Given the description of an element on the screen output the (x, y) to click on. 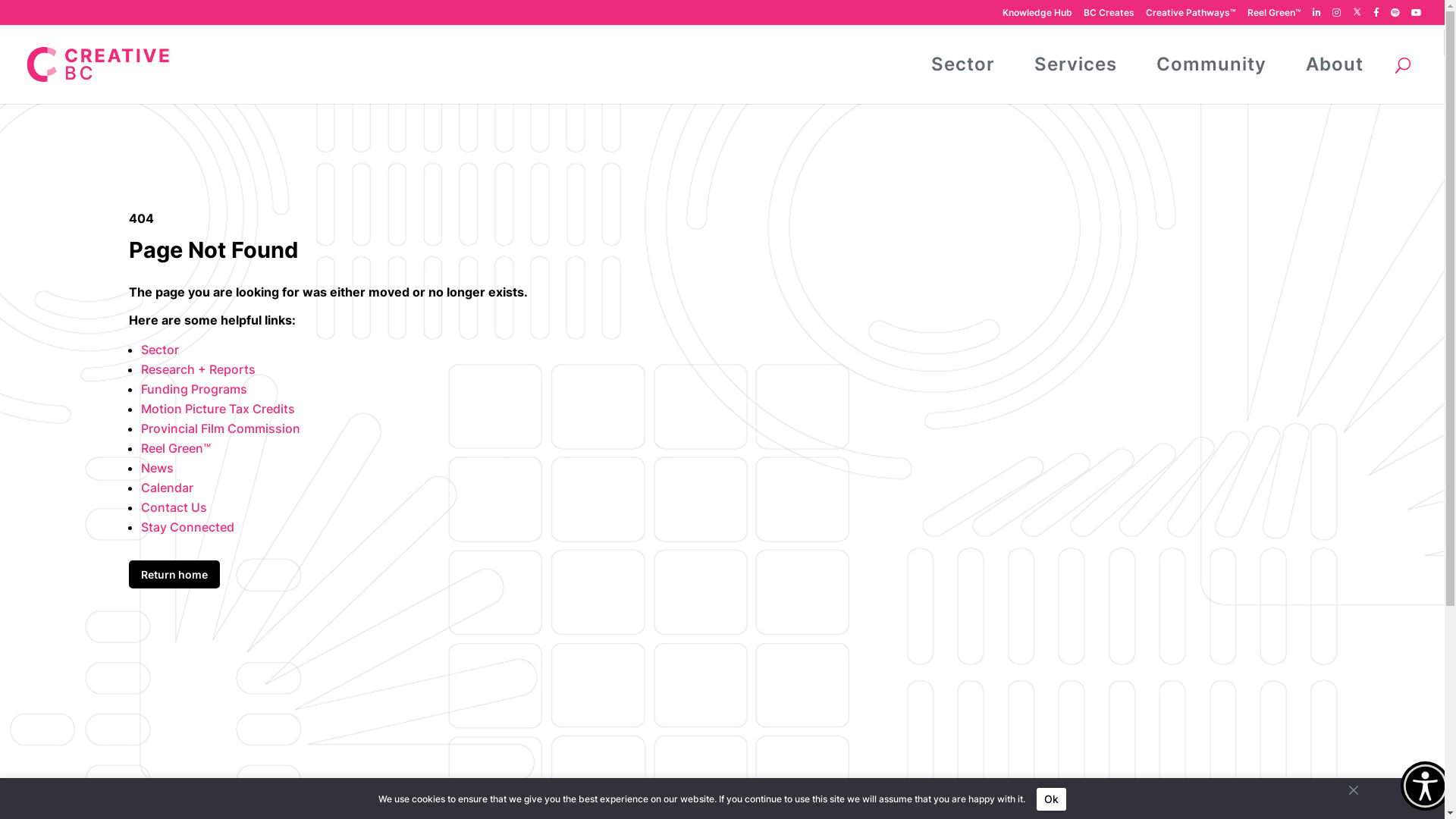
BC Creates Element type: text (1108, 15)
Sector Element type: text (963, 64)
Sector Element type: text (159, 349)
Funding Programs Element type: text (194, 388)
Calendar Element type: text (167, 487)
Services Element type: text (1075, 64)
Knowledge Hub Element type: text (1037, 15)
Return home Element type: text (173, 573)
Research + Reports Element type: text (198, 368)
Community Element type: text (1211, 64)
Contact Us Element type: text (174, 506)
News Element type: text (157, 467)
Ok Element type: text (1051, 798)
Stay Connected Element type: text (187, 526)
Motion Picture Tax Credits Element type: text (217, 408)
About Element type: text (1334, 64)
Provincial Film Commission Element type: text (220, 428)
